Given the description of an element on the screen output the (x, y) to click on. 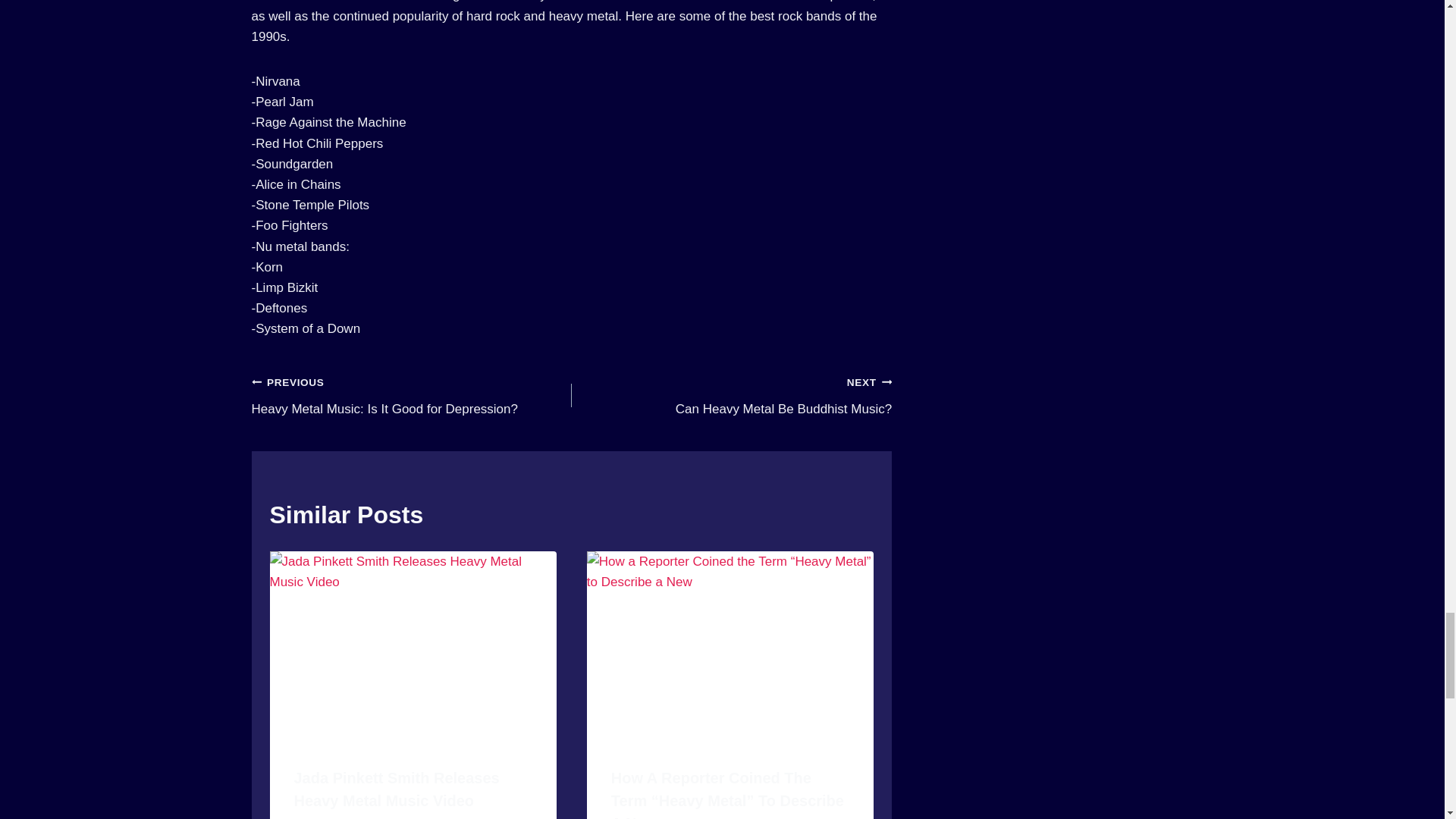
Advertisement (1065, 587)
Advertisement (571, 747)
